Given the description of an element on the screen output the (x, y) to click on. 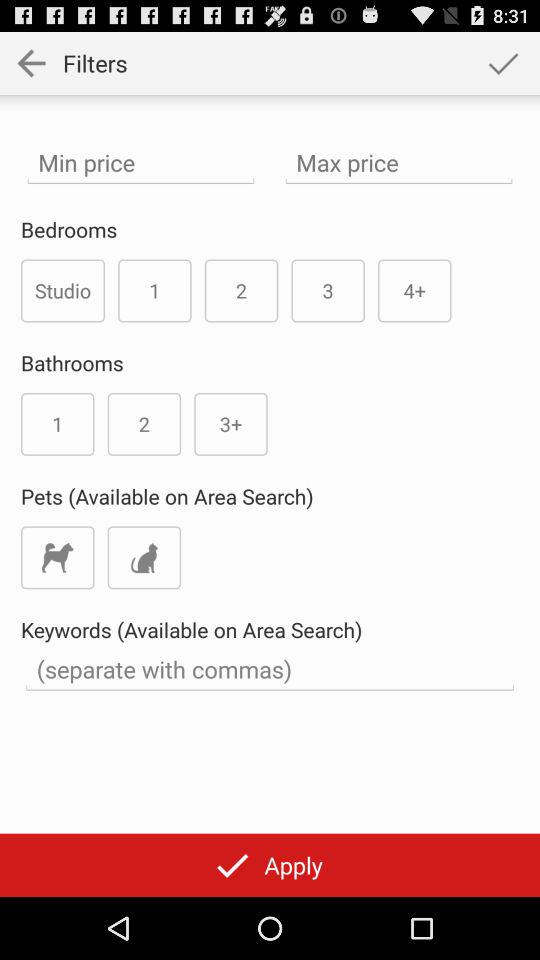
open the app below pets available on app (144, 557)
